Given the description of an element on the screen output the (x, y) to click on. 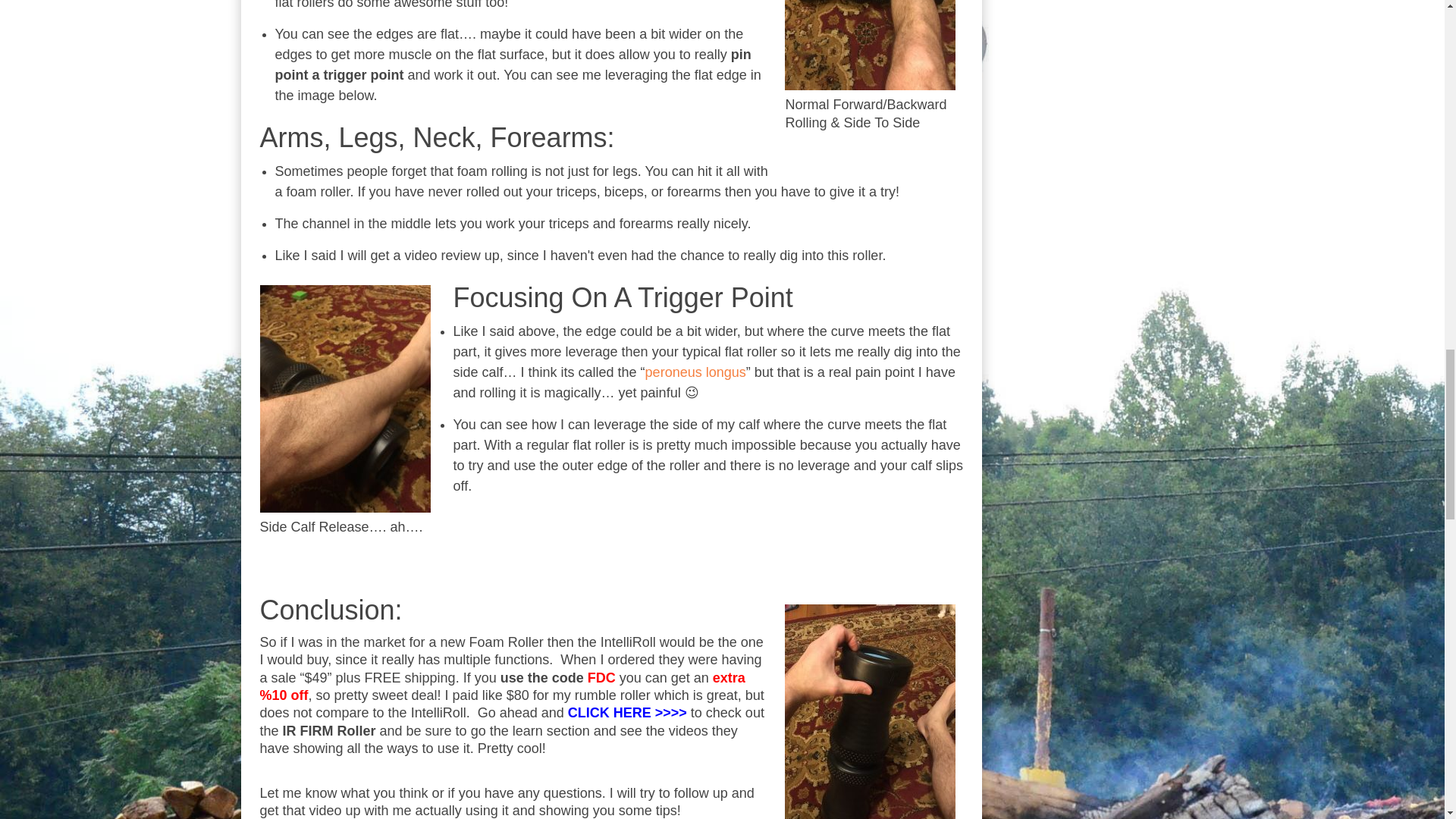
peroneus longus (695, 372)
